Given the description of an element on the screen output the (x, y) to click on. 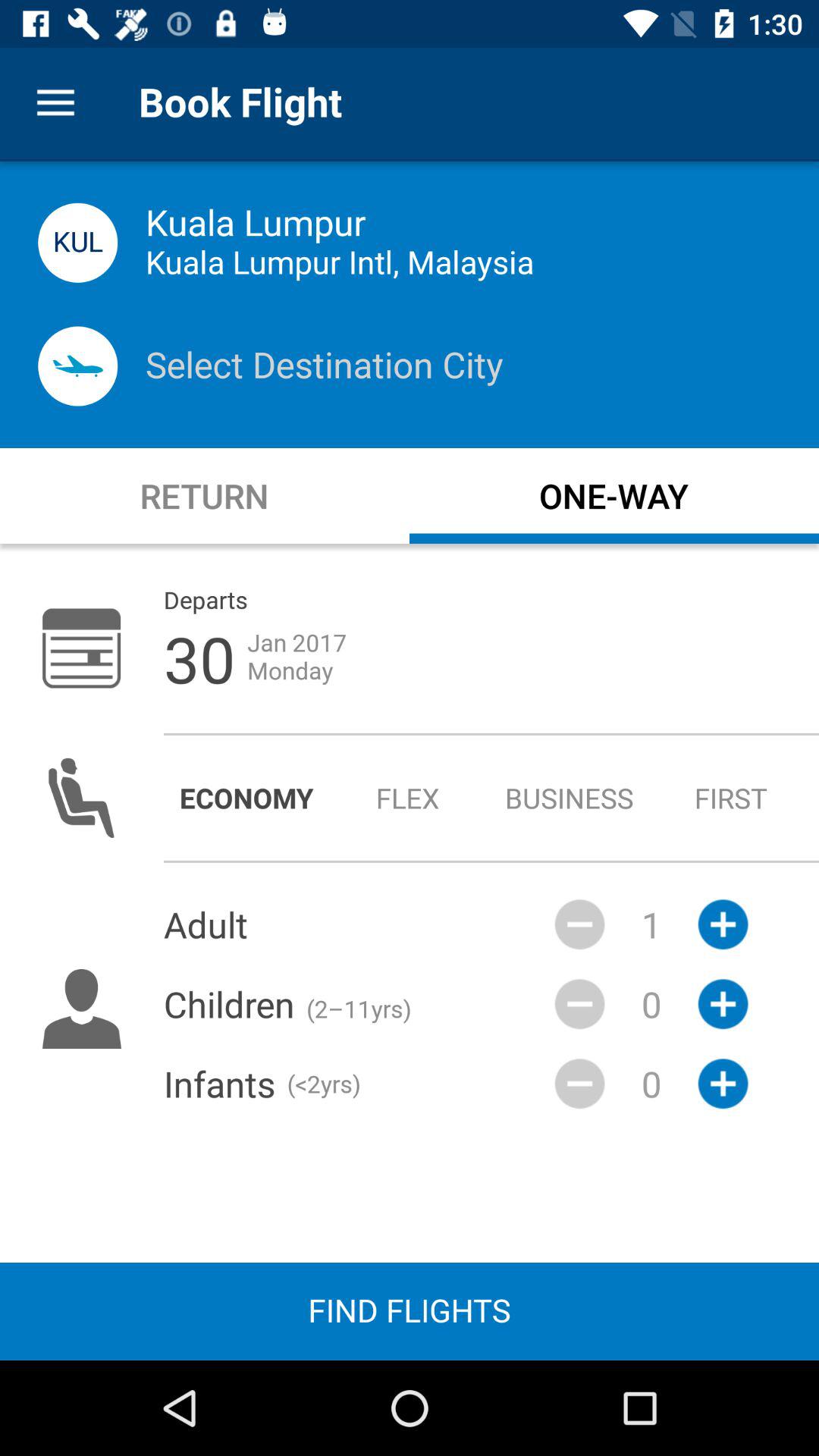
choose radio button to the left of the business (407, 797)
